Given the description of an element on the screen output the (x, y) to click on. 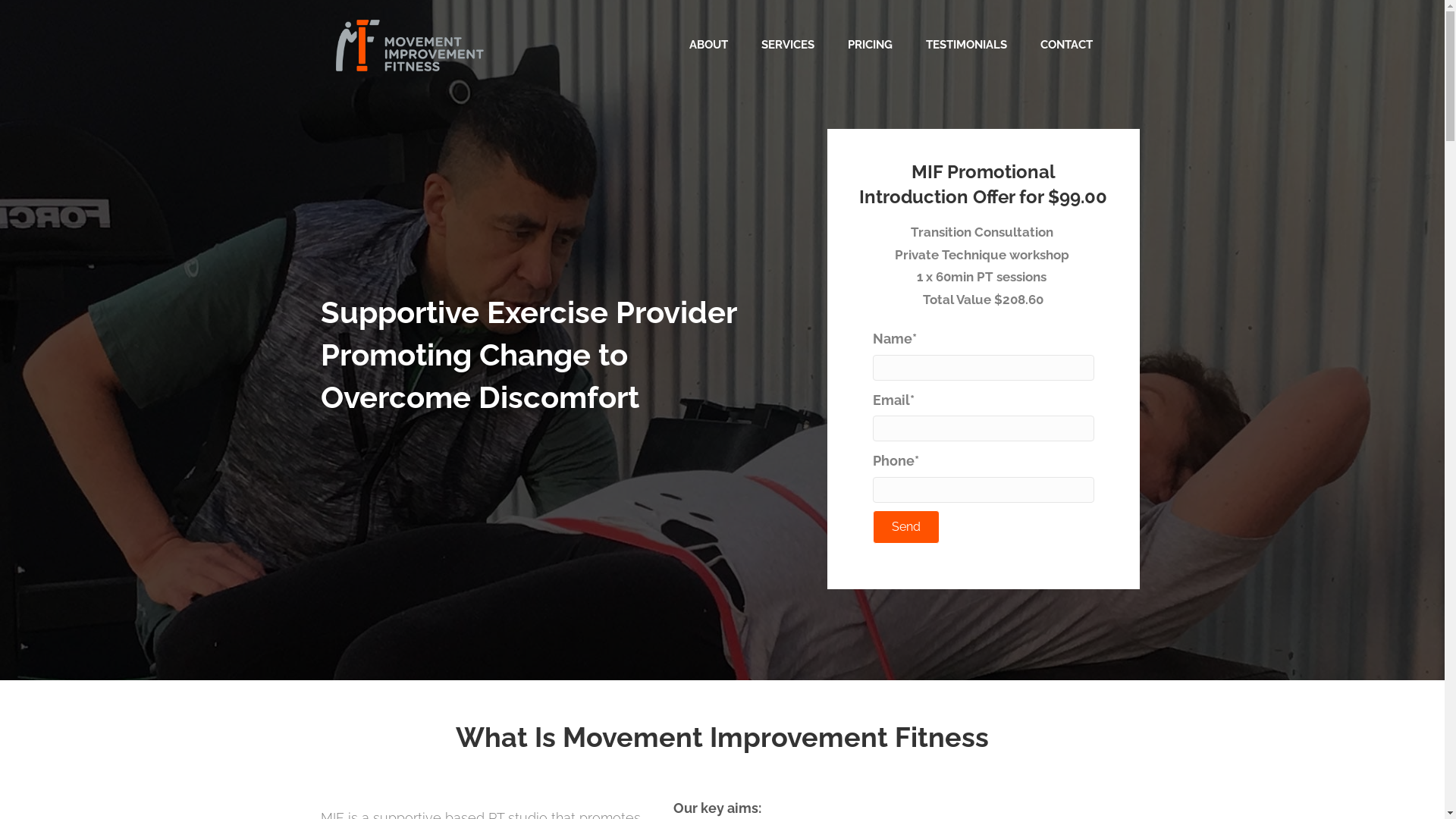
Message Us Element type: text (715, 292)
Enquire Now Element type: text (716, 315)
CONTACT Element type: text (1066, 44)
TESTIMONIALS Element type: text (965, 44)
Send Element type: text (905, 526)
ABOUT Element type: text (707, 44)
PRICING Element type: text (870, 44)
SERVICES Element type: text (787, 44)
